Given the description of an element on the screen output the (x, y) to click on. 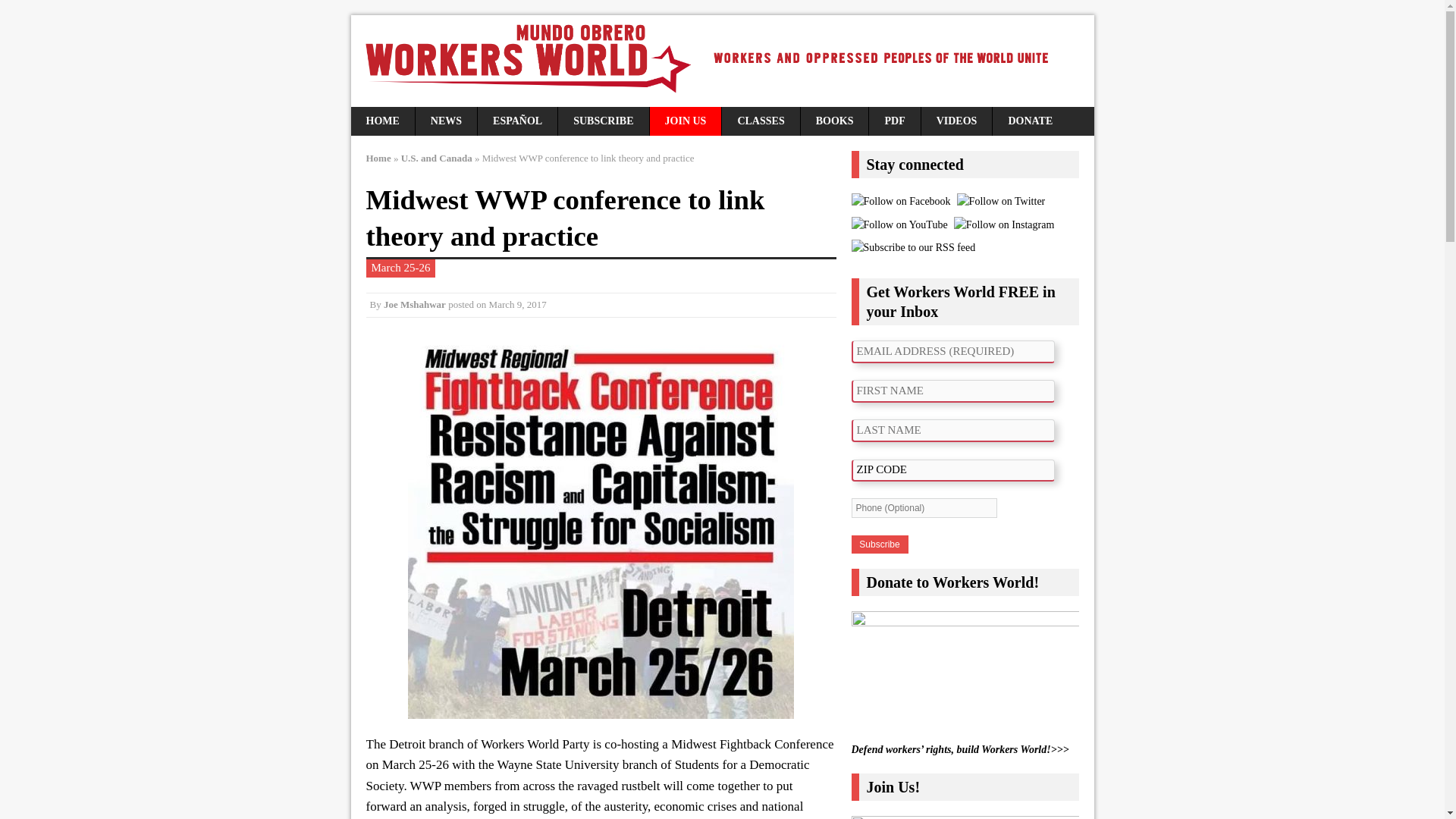
JOIN US (685, 121)
Workers World (721, 61)
BOOKS (834, 121)
CLASSES (760, 121)
NEWS (445, 121)
PDF (894, 121)
SUBSCRIBE (602, 121)
HOME (381, 121)
Subscribe (878, 544)
